Given the description of an element on the screen output the (x, y) to click on. 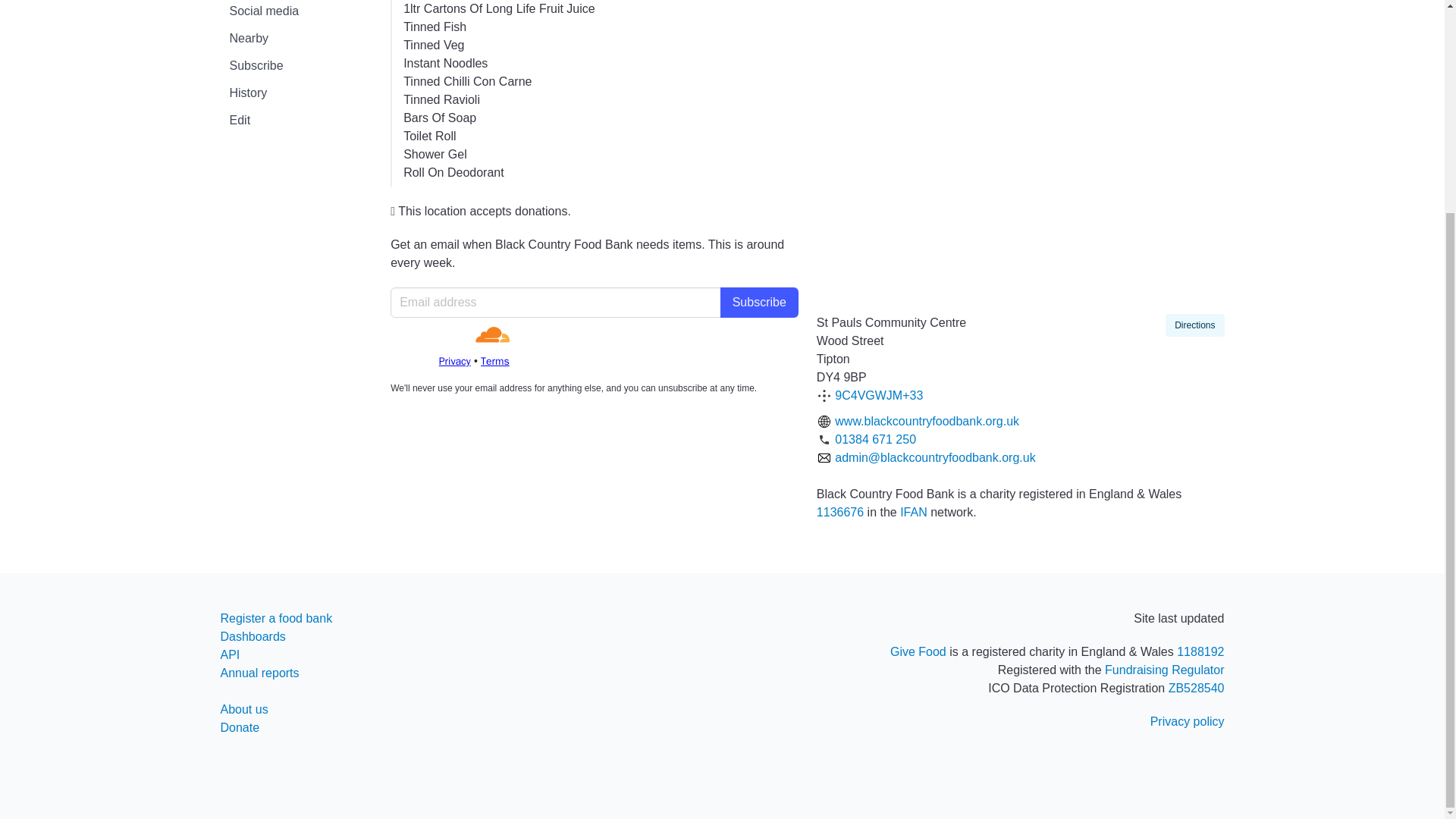
History (295, 93)
Edit (295, 120)
Donate (239, 727)
IFAN (913, 512)
Fundraising Regulator (1164, 669)
1136676 (839, 512)
Subscribe (758, 302)
01384 671 250 (874, 439)
API (229, 654)
1188192 (1200, 651)
